Given the description of an element on the screen output the (x, y) to click on. 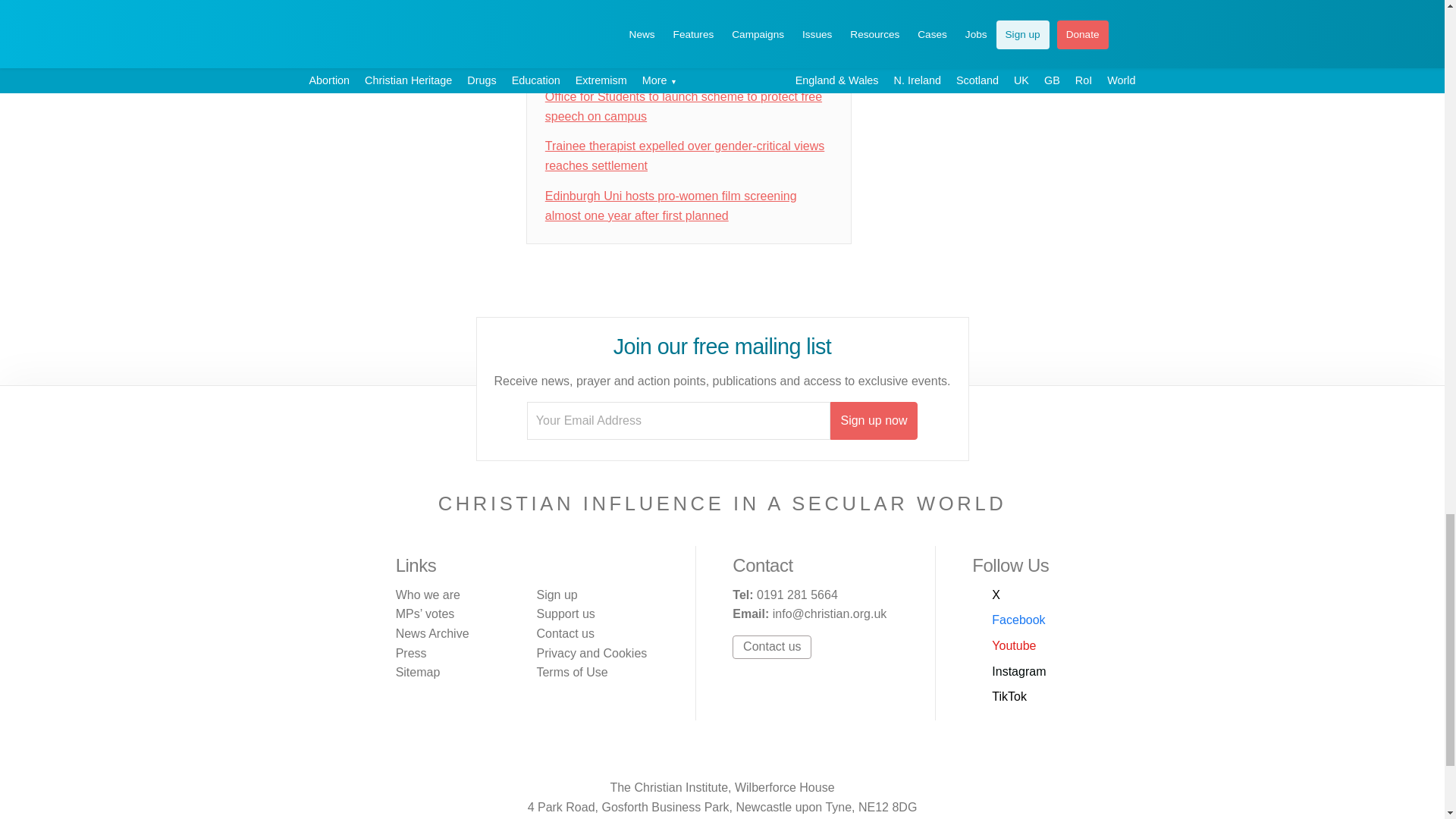
Visit our TikTok feed (769, 754)
Visit our Facebook page (673, 754)
Visit our Instagram page (1008, 671)
View our RSS News feeds (802, 754)
Visit our YouTube channel (1003, 646)
Visit our Twitter page (986, 595)
Visit our Twitter page (641, 754)
Visit our YouTube channel (705, 754)
Visit our Instagram page (737, 754)
Visit our TikTok feed (999, 696)
